Given the description of an element on the screen output the (x, y) to click on. 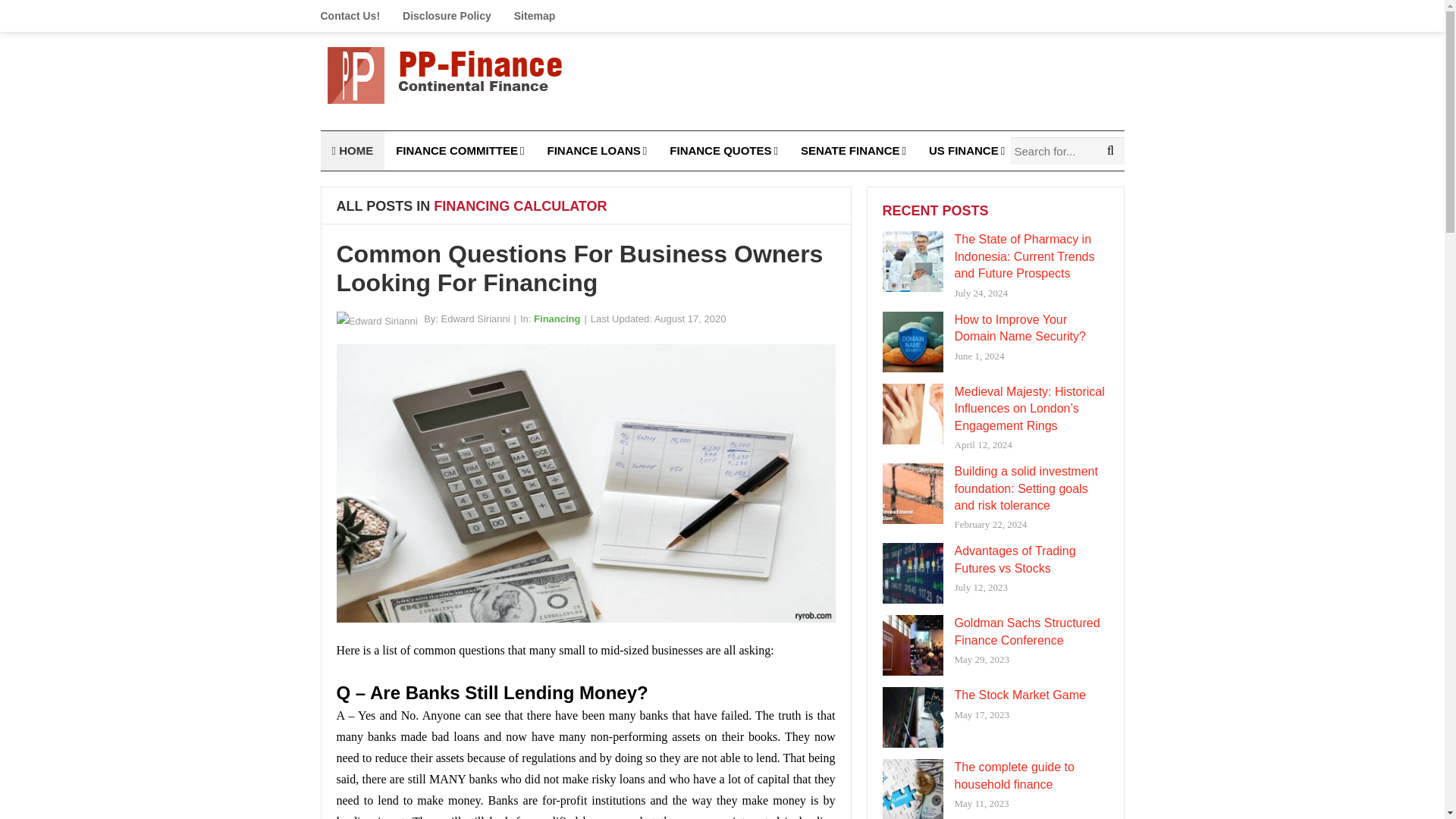
Contact Us! (355, 15)
Disclosure Policy (446, 15)
Sitemap (534, 15)
